Given the description of an element on the screen output the (x, y) to click on. 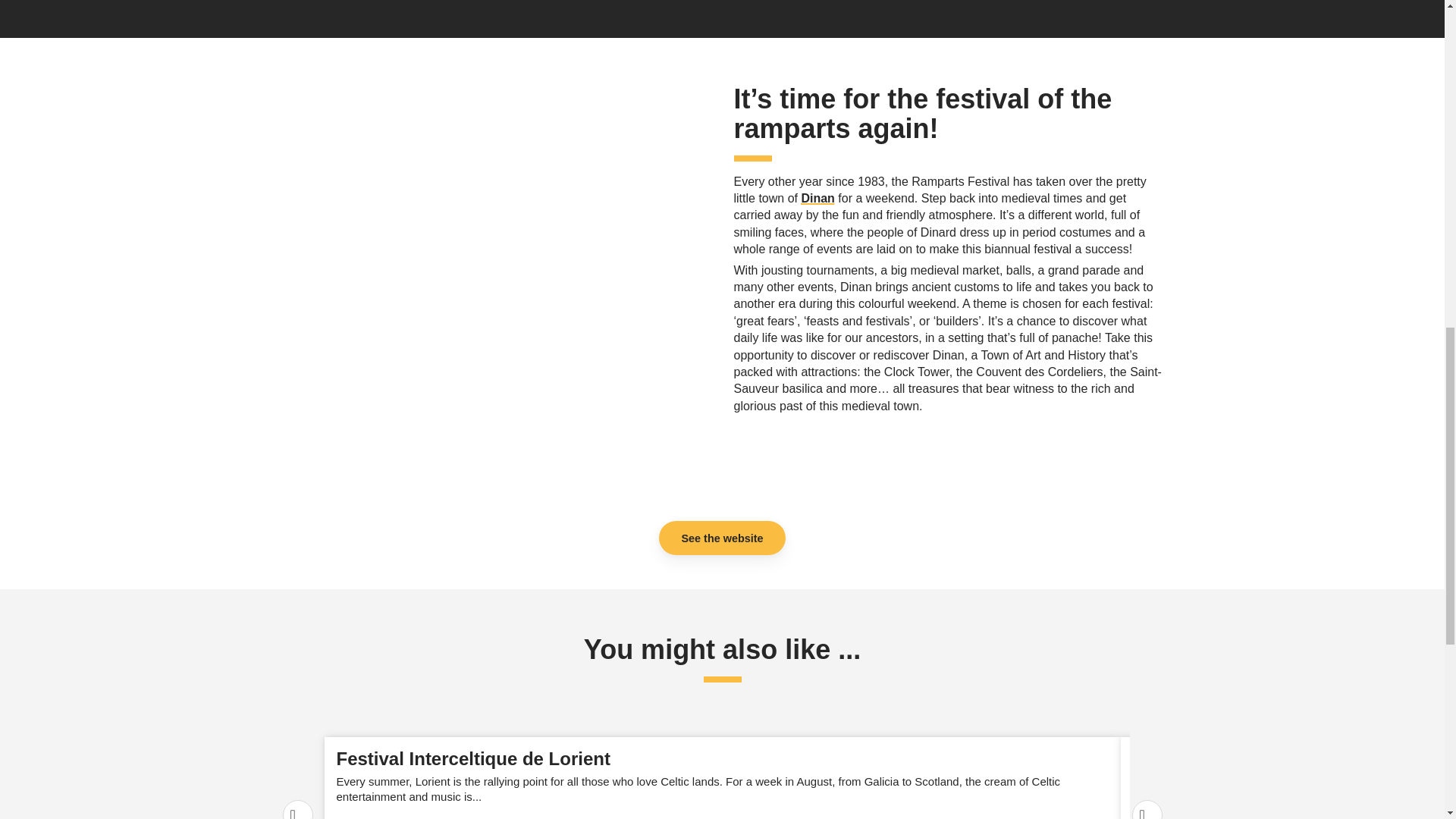
Dinan (817, 197)
See the website (722, 537)
